Given the description of an element on the screen output the (x, y) to click on. 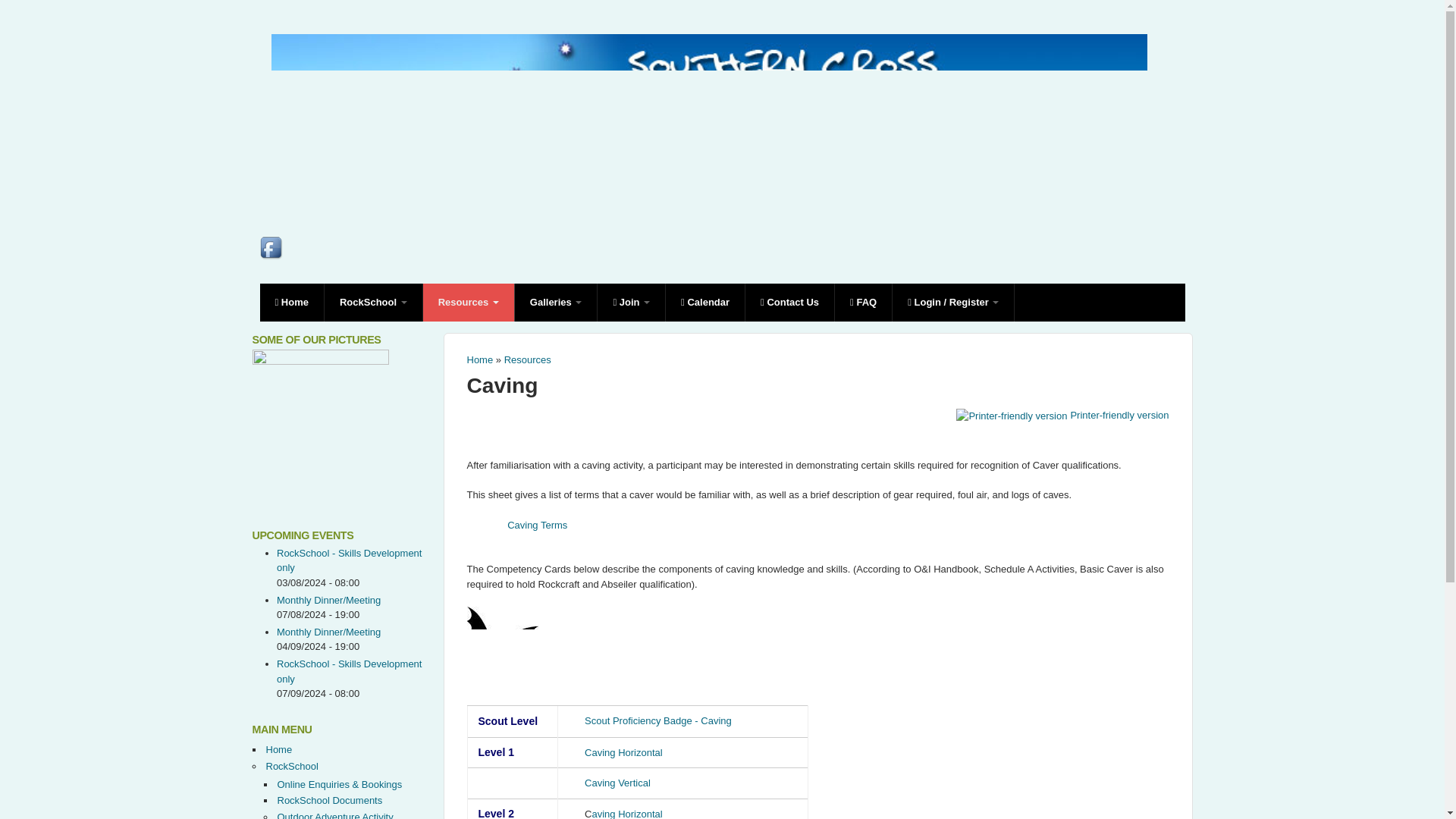
Contact Us (789, 302)
Log in (833, 477)
Resources (469, 302)
Home (480, 359)
Resources (469, 302)
Galleries (556, 302)
Find us on Facebook (271, 248)
Caving (502, 385)
Resources (527, 359)
Join (630, 302)
Home page (708, 192)
Printer-friendly version (1062, 414)
RockSchool (373, 302)
Home (291, 302)
